Given the description of an element on the screen output the (x, y) to click on. 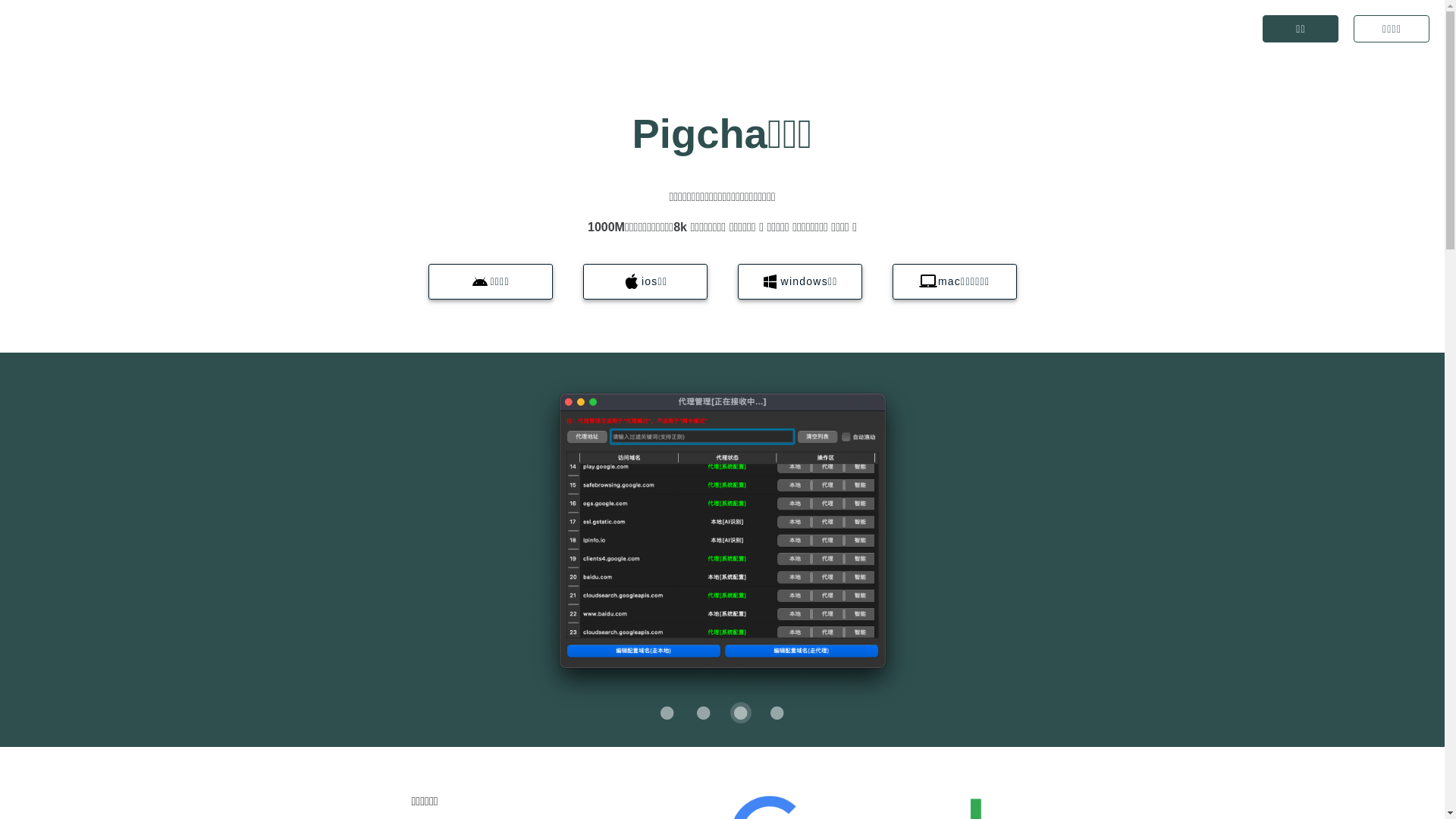
1 Element type: text (703, 712)
3 Element type: text (776, 712)
2 Element type: text (740, 712)
0 Element type: text (666, 712)
